Given the description of an element on the screen output the (x, y) to click on. 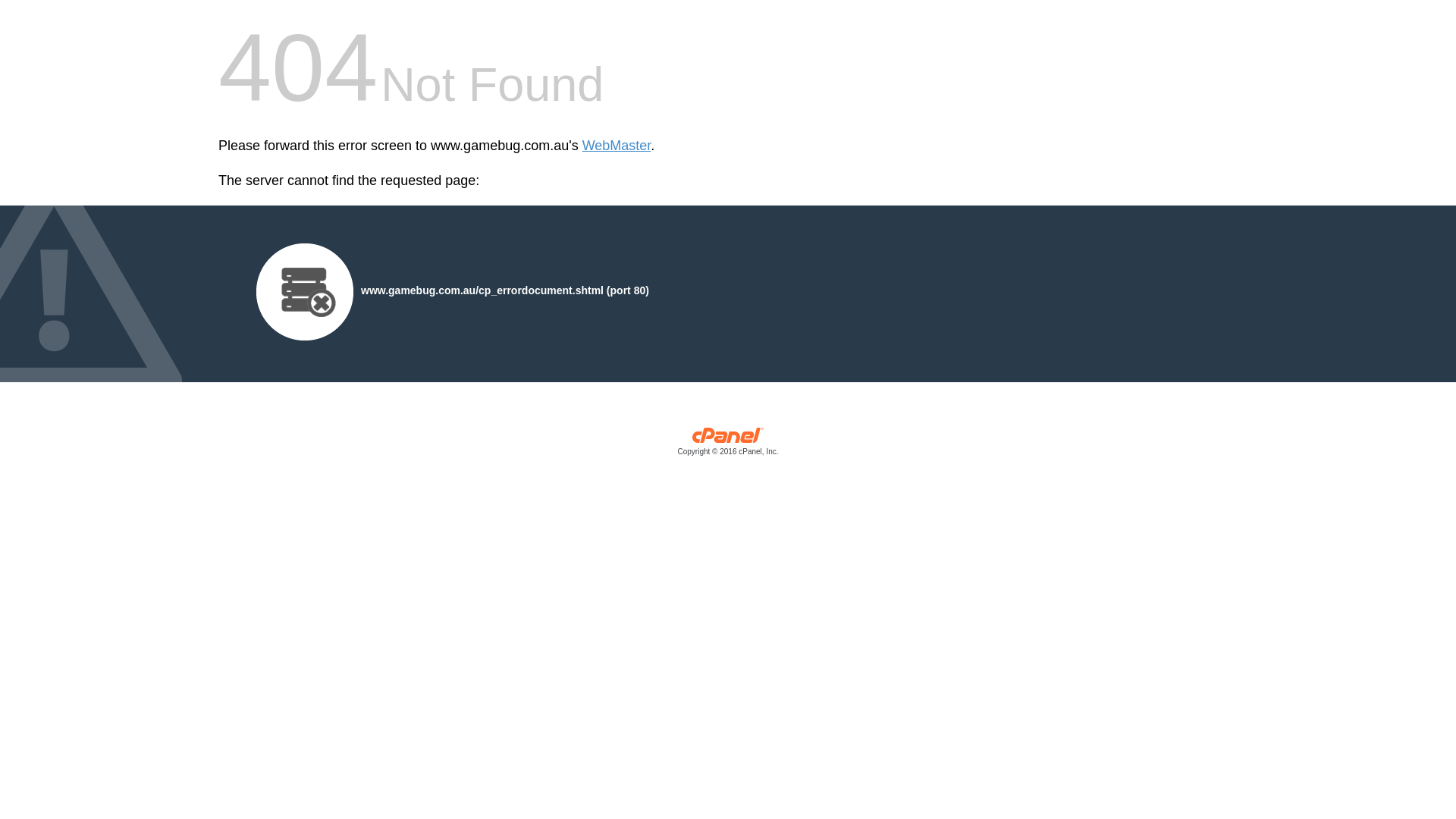
WebMaster Element type: text (616, 145)
